Given the description of an element on the screen output the (x, y) to click on. 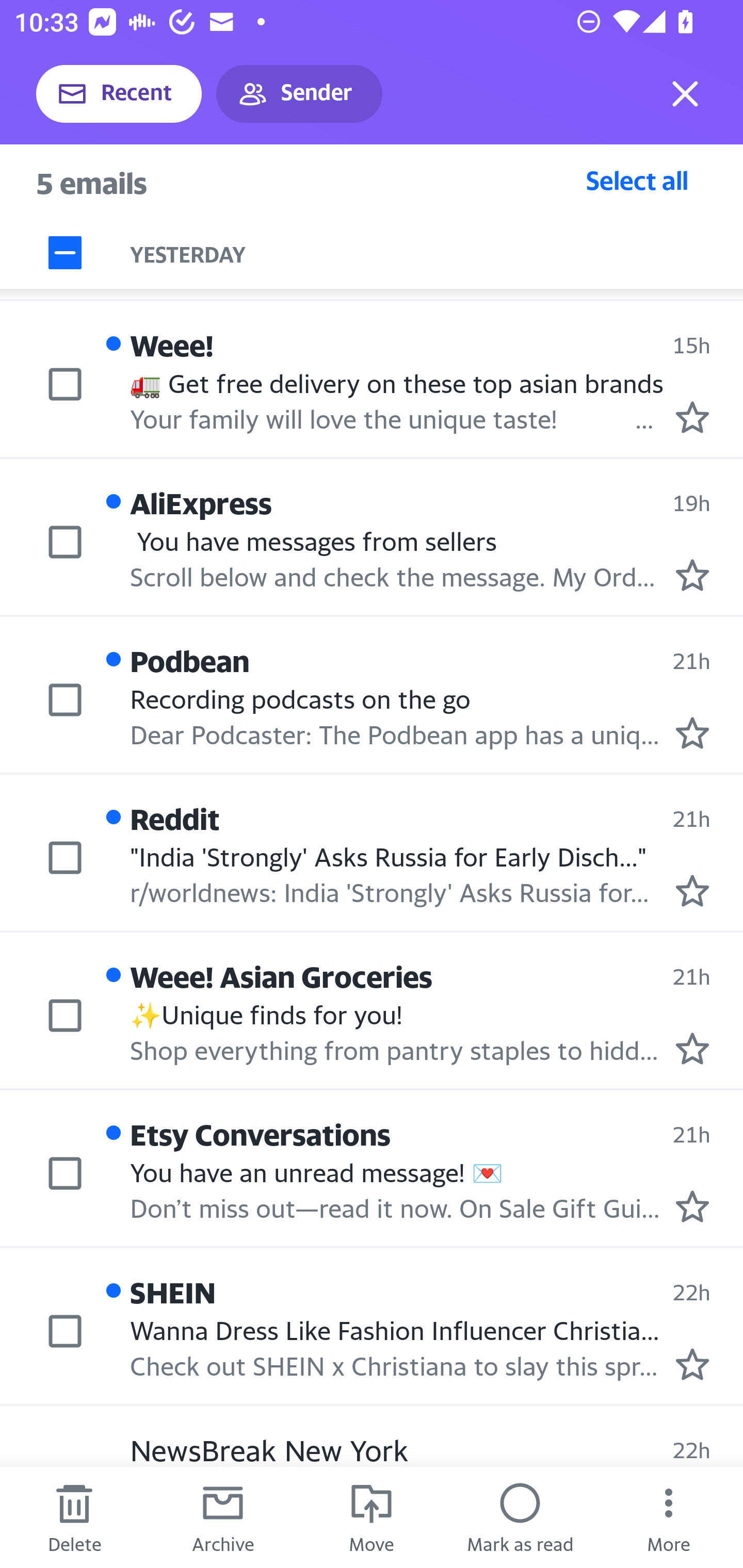
Sender (299, 93)
Exit selection mode (684, 93)
Select all (637, 180)
Mark as starred. (692, 417)
Mark as starred. (692, 574)
Mark as starred. (692, 733)
Mark as starred. (692, 891)
Mark as starred. (692, 1048)
Mark as starred. (692, 1206)
Mark as starred. (692, 1364)
Delete (74, 1517)
Archive (222, 1517)
Move (371, 1517)
Mark as read (519, 1517)
More (668, 1517)
